Given the description of an element on the screen output the (x, y) to click on. 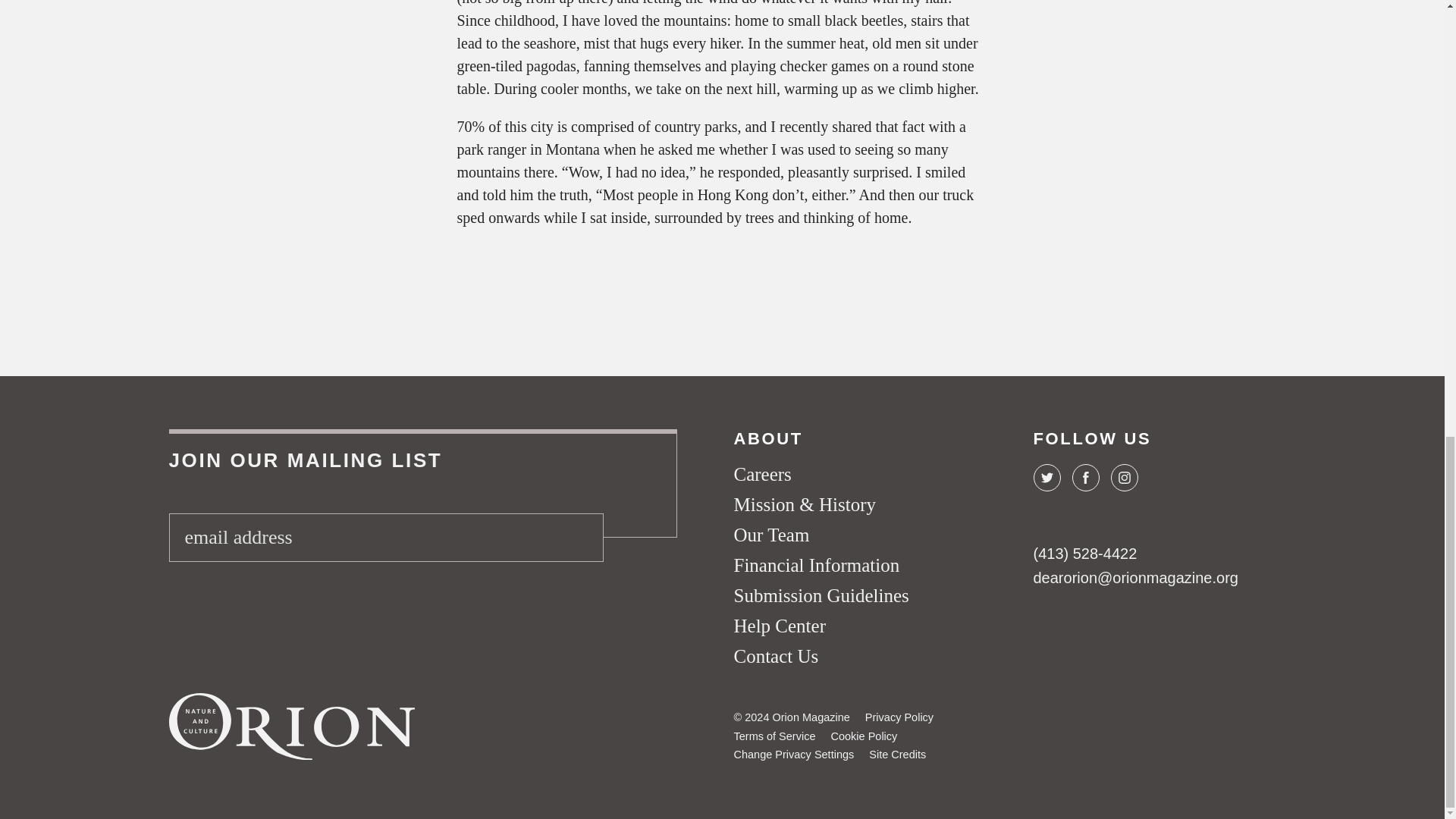
SIGN UP (577, 537)
On Instagram (1123, 477)
On Facebook (1085, 477)
On Twitter (1045, 477)
Careers (762, 474)
